Given the description of an element on the screen output the (x, y) to click on. 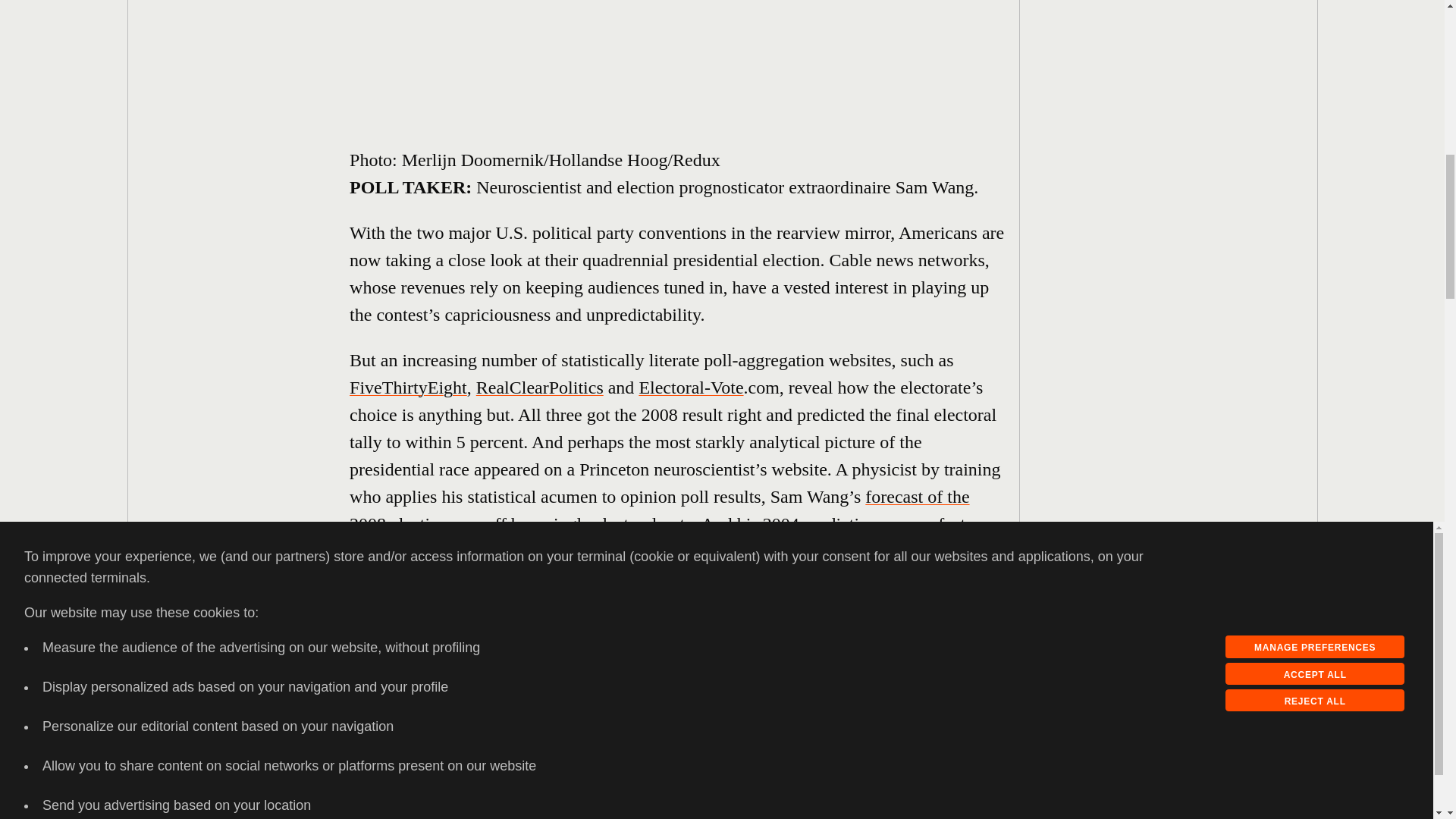
Privacy Policy (66, 29)
